Given the description of an element on the screen output the (x, y) to click on. 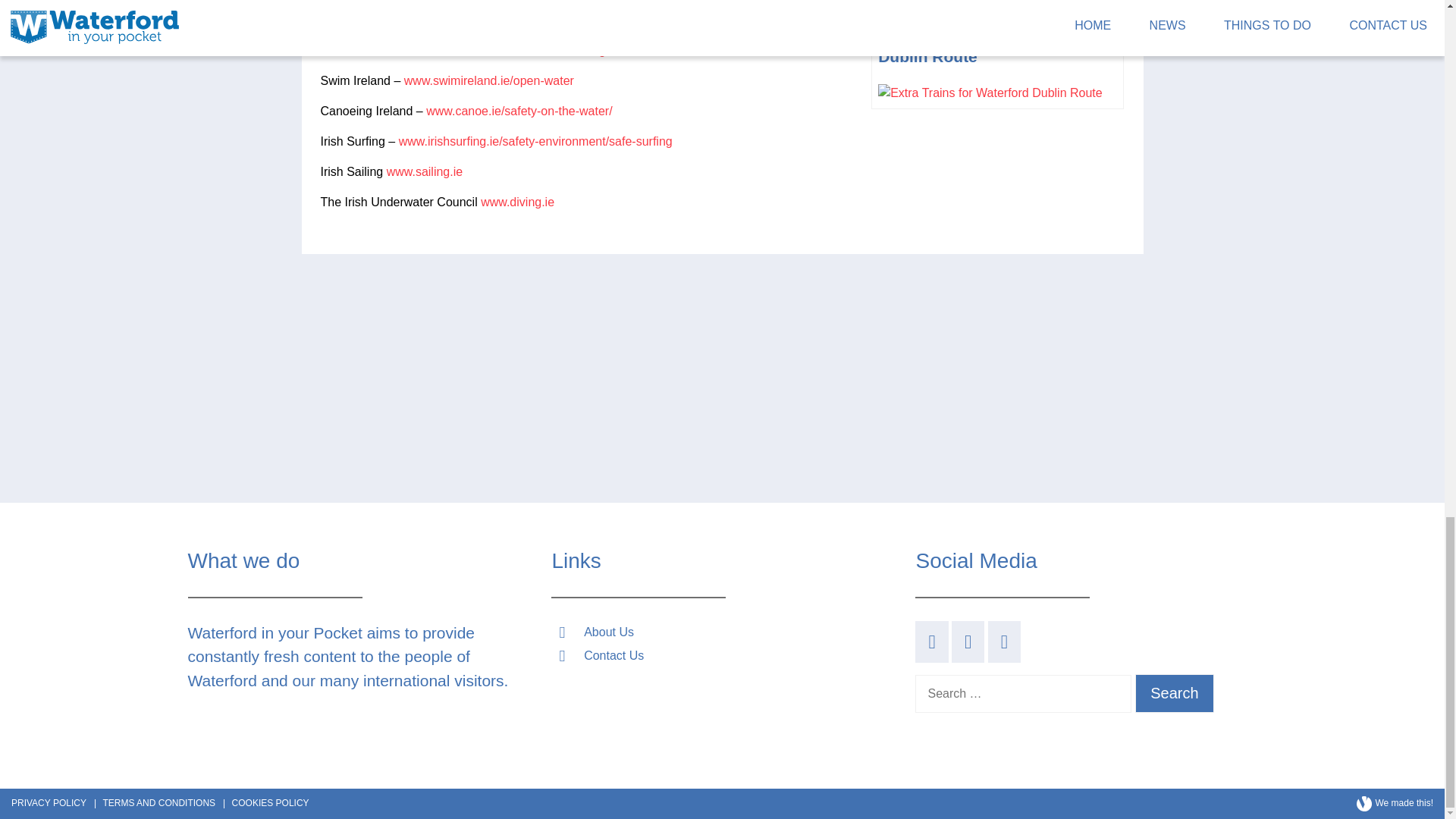
www.diving.ie (517, 201)
www.leavenotraceireland.org (527, 50)
Search (1174, 693)
Search (1174, 693)
www.sailing.ie (425, 171)
